Given the description of an element on the screen output the (x, y) to click on. 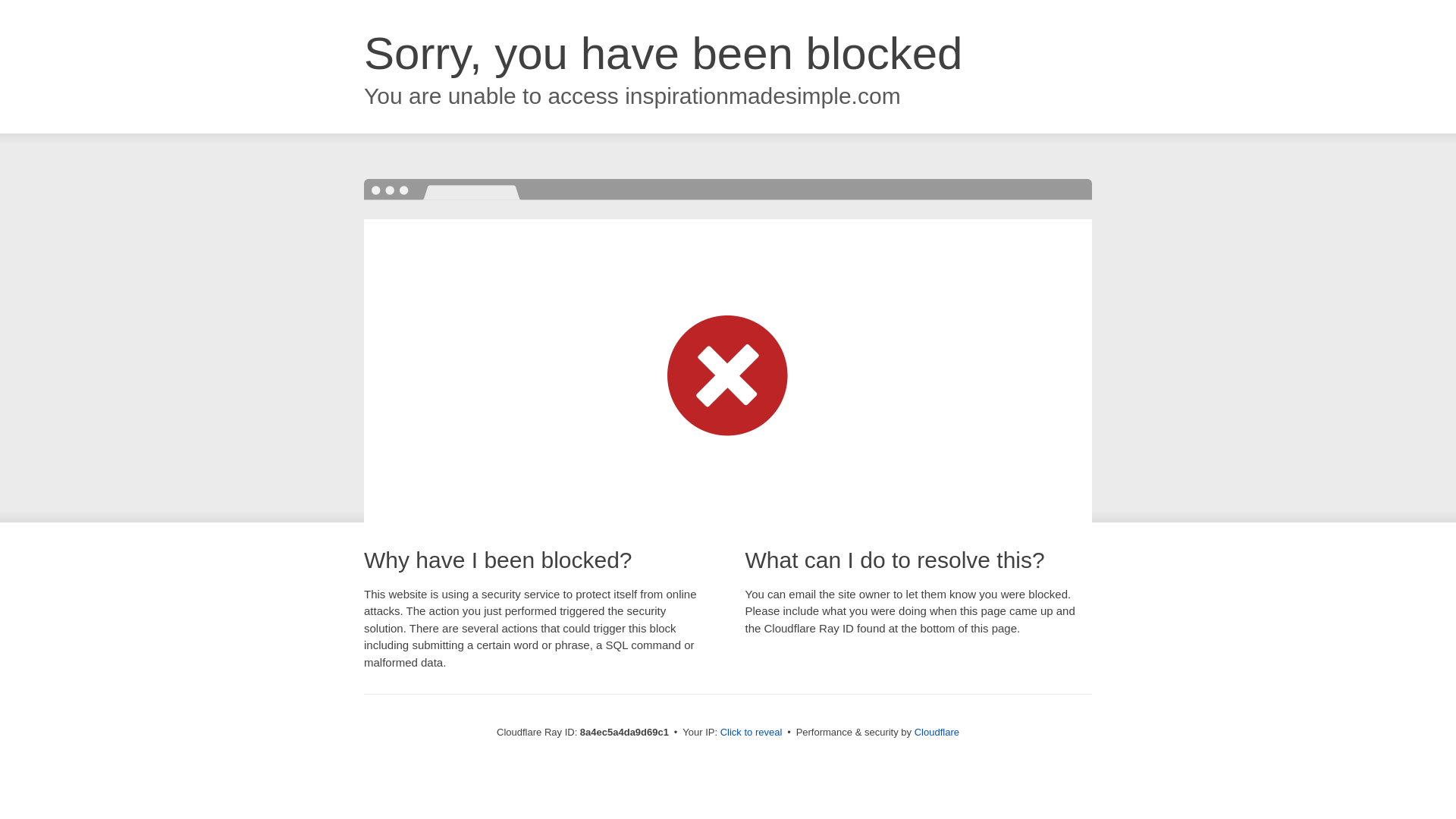
Click to reveal (751, 732)
Cloudflare (936, 731)
